Given the description of an element on the screen output the (x, y) to click on. 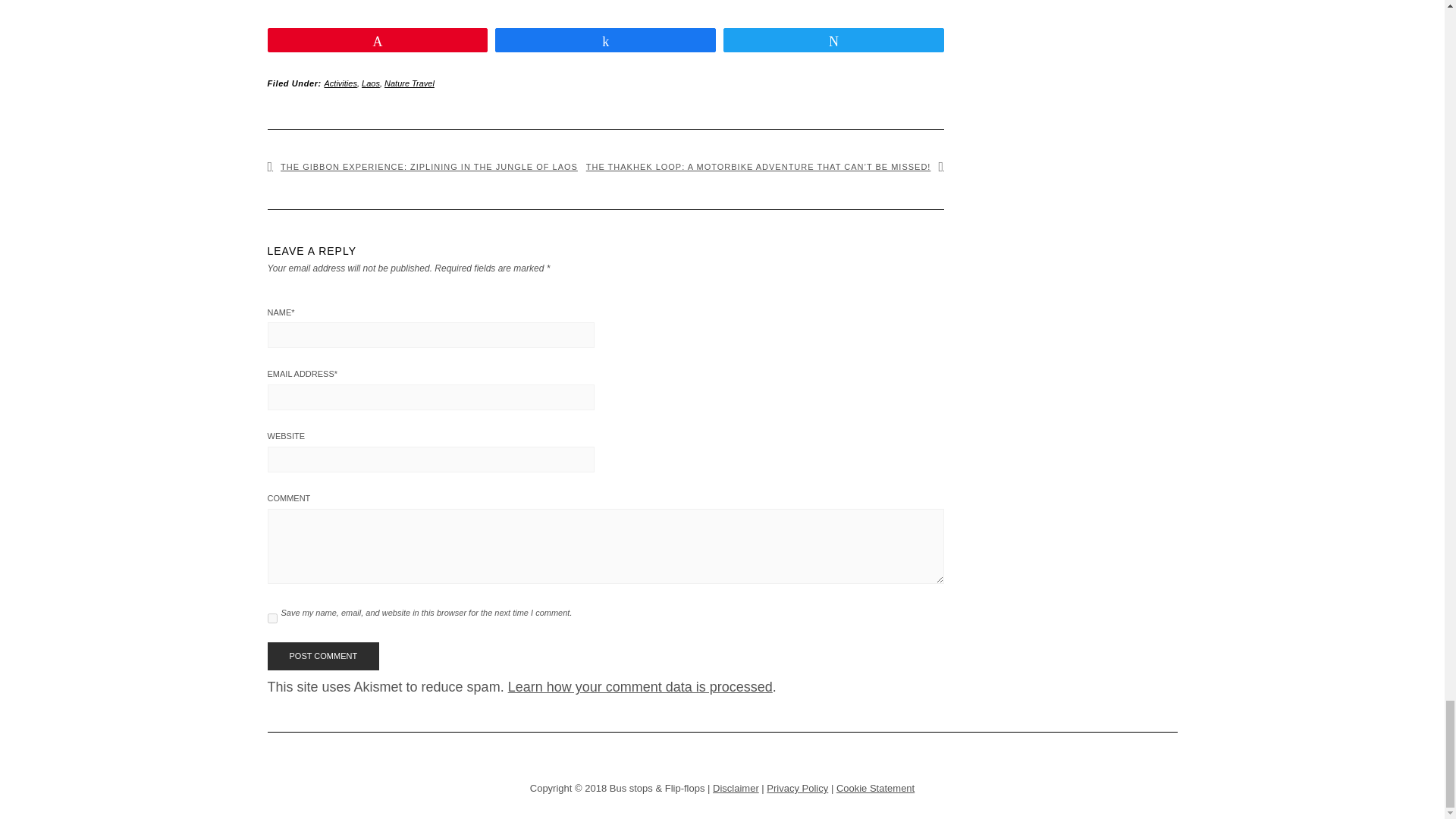
Post Comment (322, 656)
yes (271, 618)
